Given the description of an element on the screen output the (x, y) to click on. 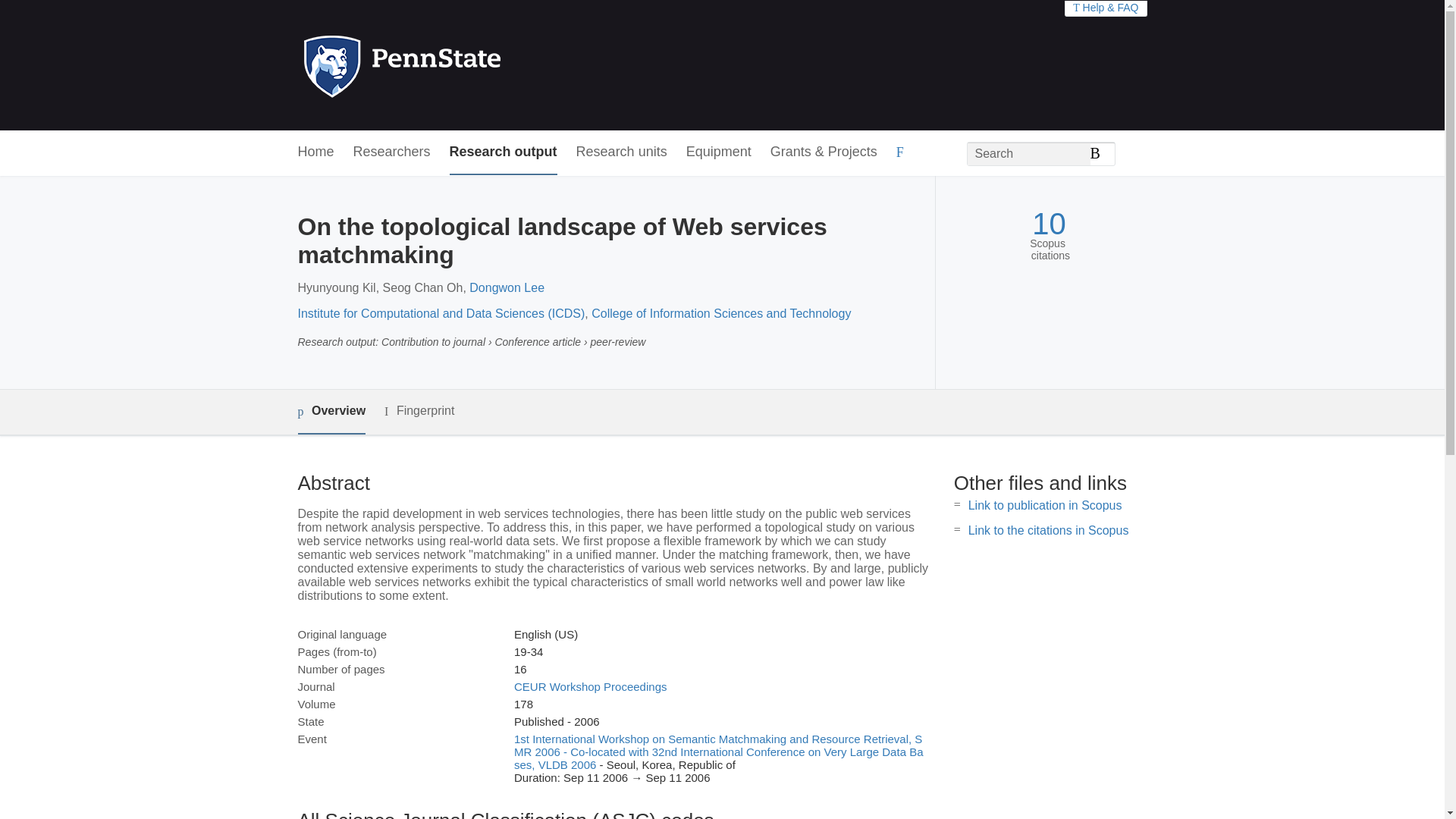
CEUR Workshop Proceedings (589, 686)
10 (1048, 223)
Penn State Home (467, 65)
Research units (621, 152)
Research output (503, 152)
Overview (331, 411)
Link to publication in Scopus (1045, 504)
Fingerprint (419, 411)
College of Information Sciences and Technology (720, 313)
